Given the description of an element on the screen output the (x, y) to click on. 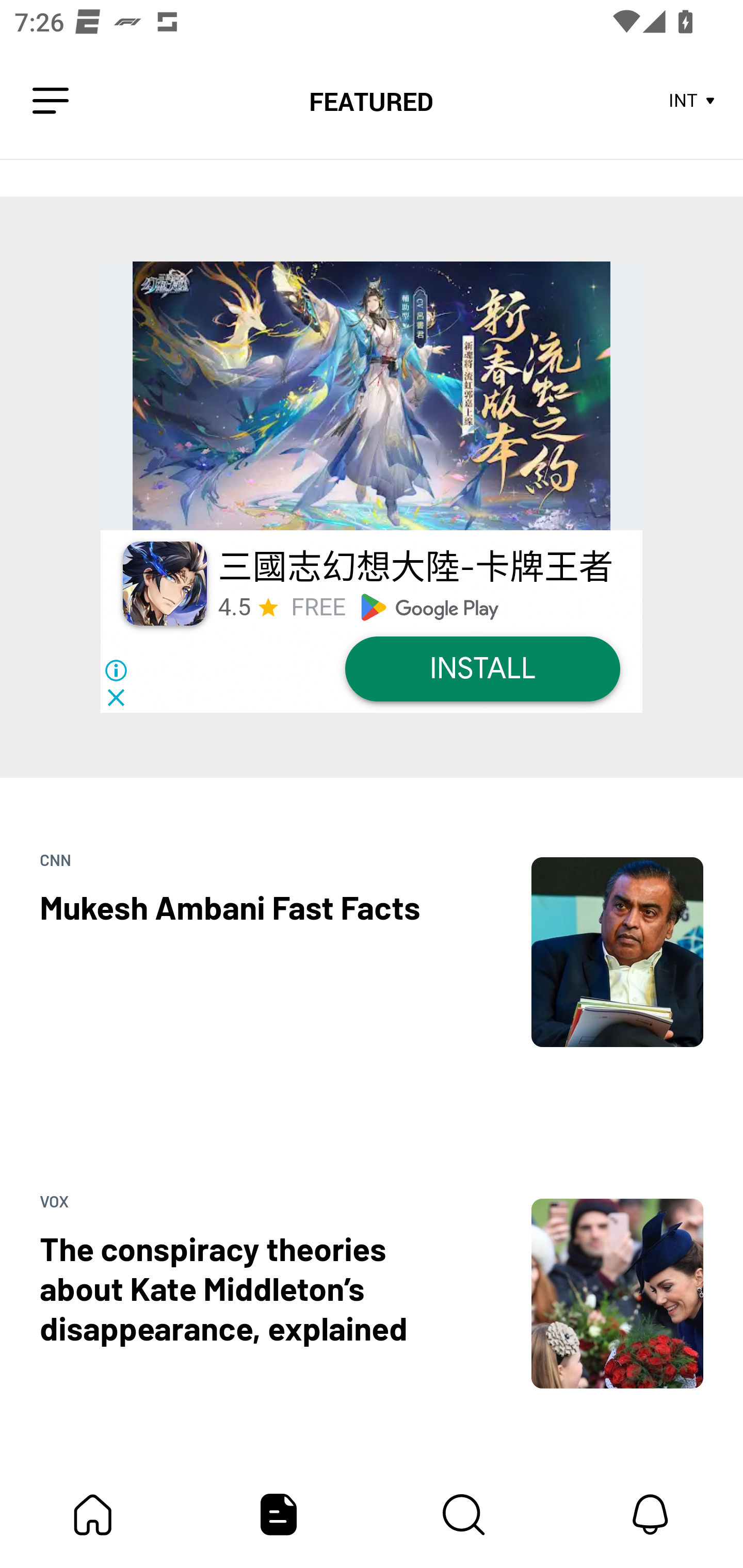
Leading Icon (50, 101)
INT Store Area (692, 101)
三國志幻想大陸-卡牌王者 (414, 567)
4.5 (234, 606)
FREE (317, 606)
INSTALL (482, 669)
CNN Mukesh Ambani Fast Facts News Item Image (371, 912)
My Bundle (92, 1514)
Content Store (464, 1514)
Notifications (650, 1514)
